Given the description of an element on the screen output the (x, y) to click on. 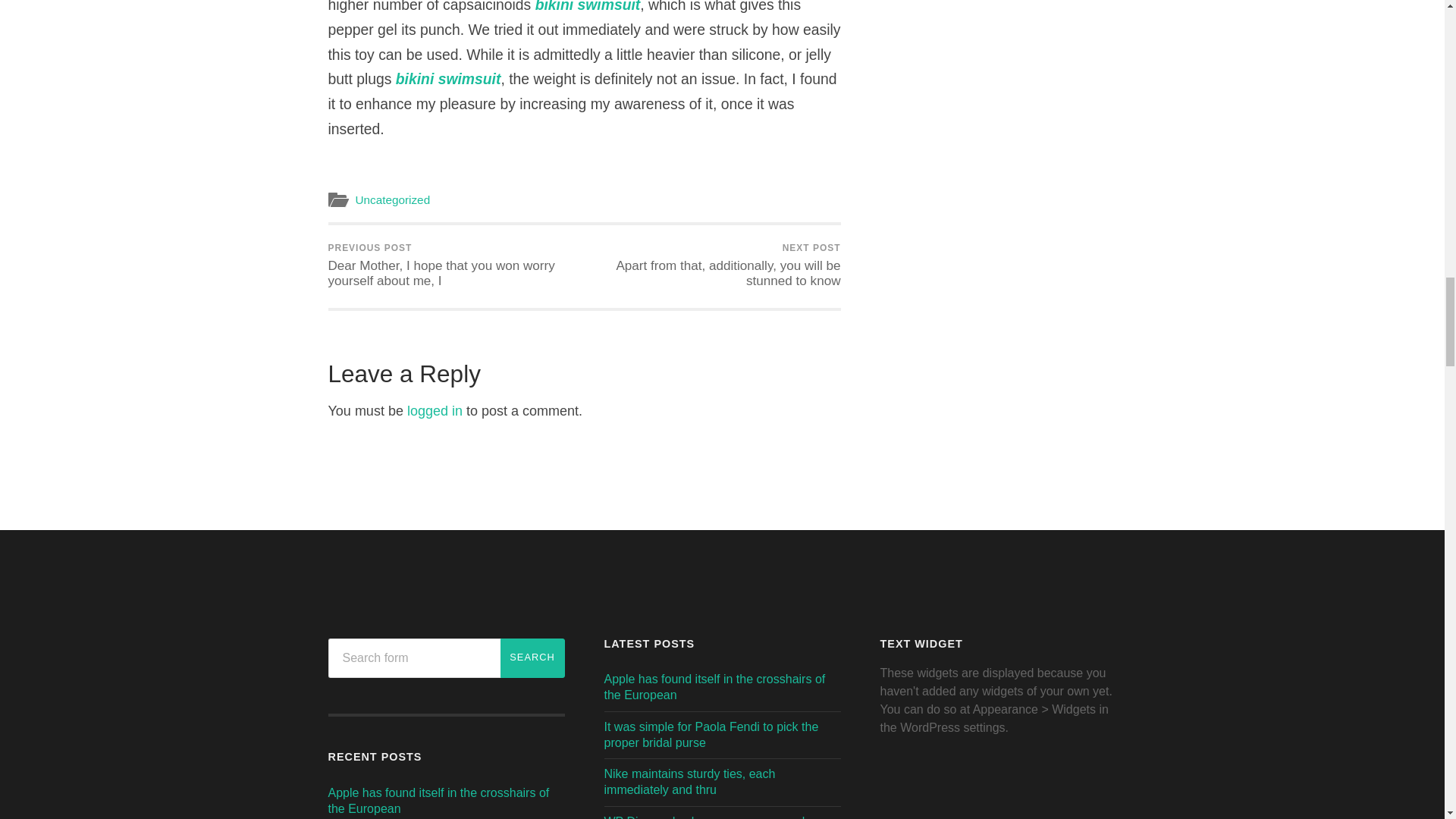
Uncategorized (392, 199)
Search (532, 658)
bikini swimsuit (448, 78)
Search (532, 658)
bikini swimsuit (587, 6)
logged in (435, 410)
View all posts in Uncategorized (392, 199)
